Given the description of an element on the screen output the (x, y) to click on. 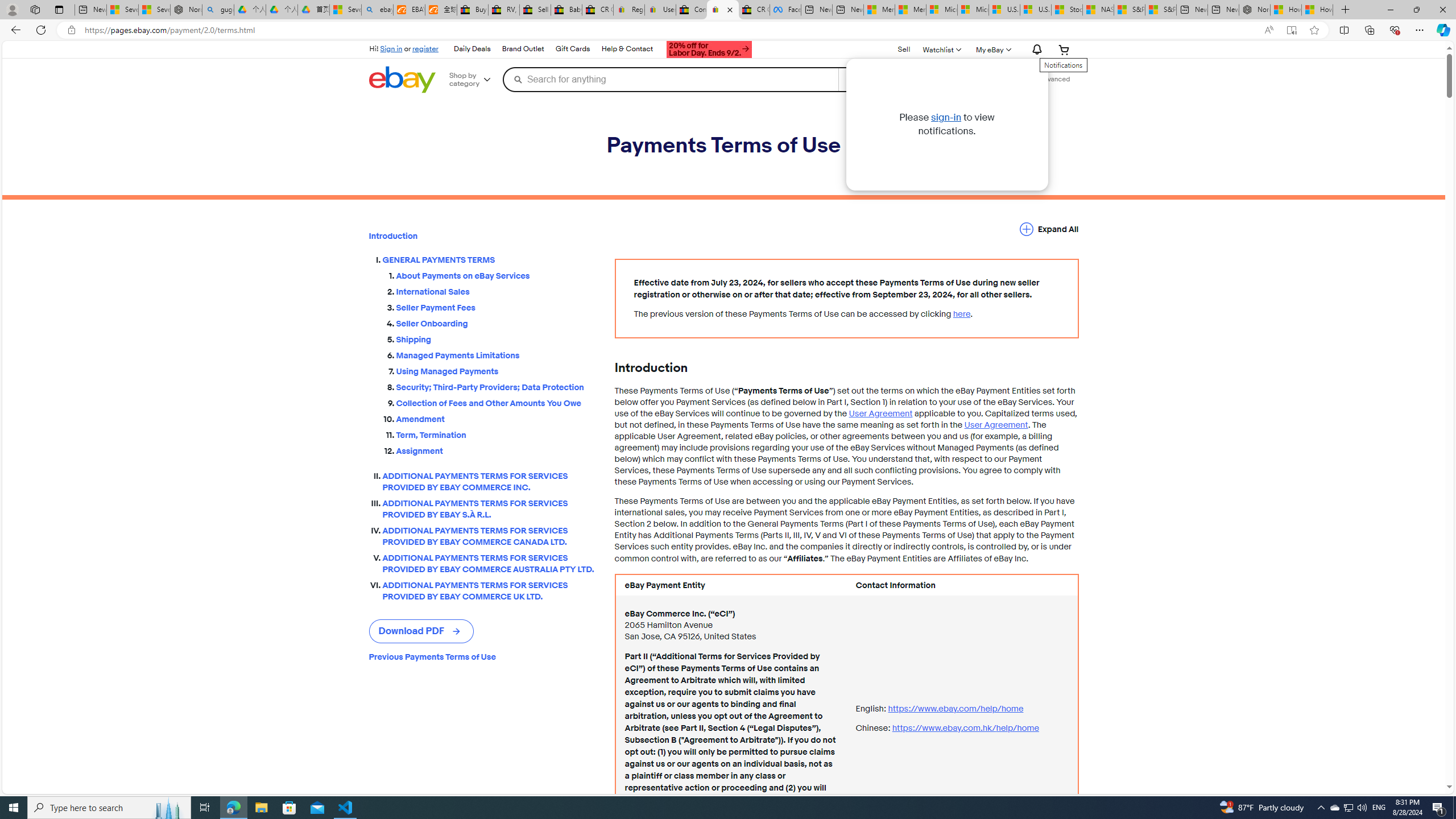
Sign in (391, 48)
eBay Home (401, 79)
International Sales (496, 291)
Please sign-in to view notifications. (1035, 49)
Sell (904, 49)
My eBay (992, 49)
About Payments on eBay Services (496, 273)
RV, Trailer & Camper Steps & Ladders for sale | eBay (503, 9)
https://www.ebay.com.hk/ help/home (965, 727)
